Given the description of an element on the screen output the (x, y) to click on. 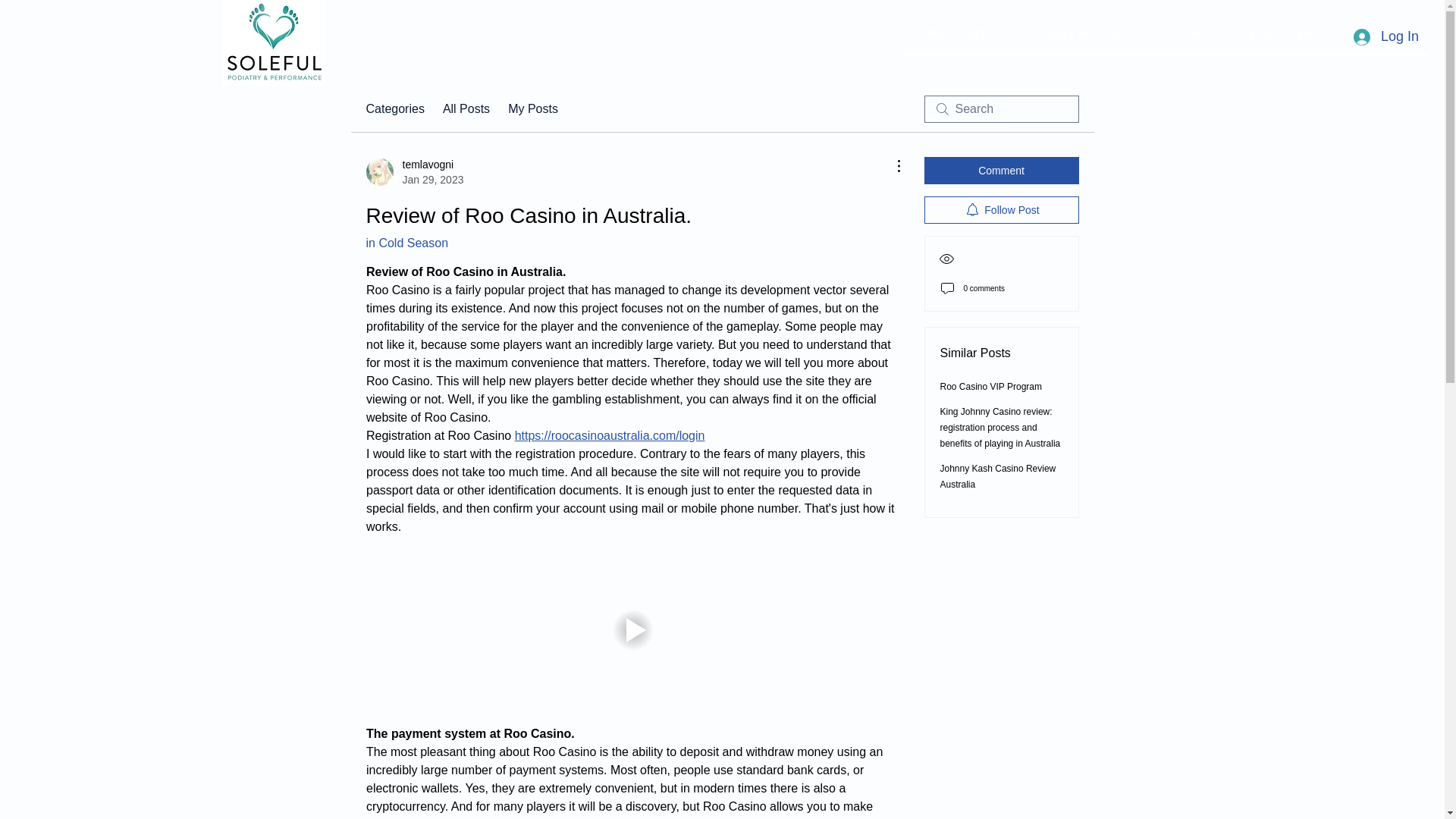
Log In (1385, 36)
All Posts (465, 108)
Forum (1185, 34)
Follow Post (1000, 209)
Comment (1000, 170)
My Posts (532, 108)
Roo Casino VIP Program (991, 386)
Podiatry Services (1075, 34)
Categories (394, 108)
in Cold Season (414, 172)
Johnny Kash Casino Review Australia (406, 242)
Contact (998, 476)
About Abbi (1384, 34)
